Given the description of an element on the screen output the (x, y) to click on. 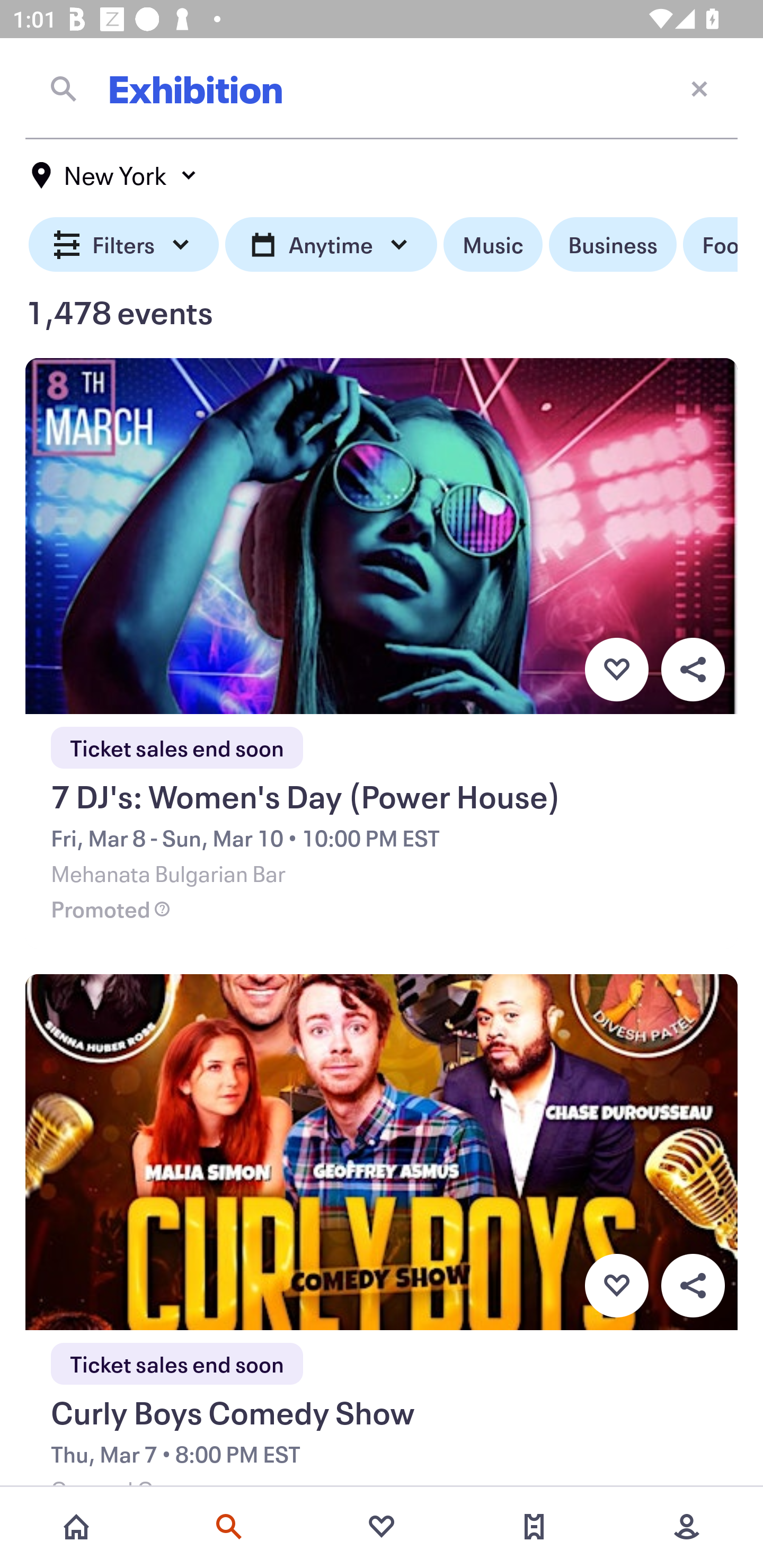
Exhibition Close current screen (381, 88)
Close current screen (699, 88)
New York (114, 175)
Filters (123, 244)
Anytime (331, 244)
Music (492, 244)
Business (612, 244)
Favorite button (616, 669)
Overflow menu button (692, 669)
Favorite button (616, 1285)
Overflow menu button (692, 1285)
Home (76, 1526)
Search events (228, 1526)
Favorites (381, 1526)
Tickets (533, 1526)
More (686, 1526)
